Given the description of an element on the screen output the (x, y) to click on. 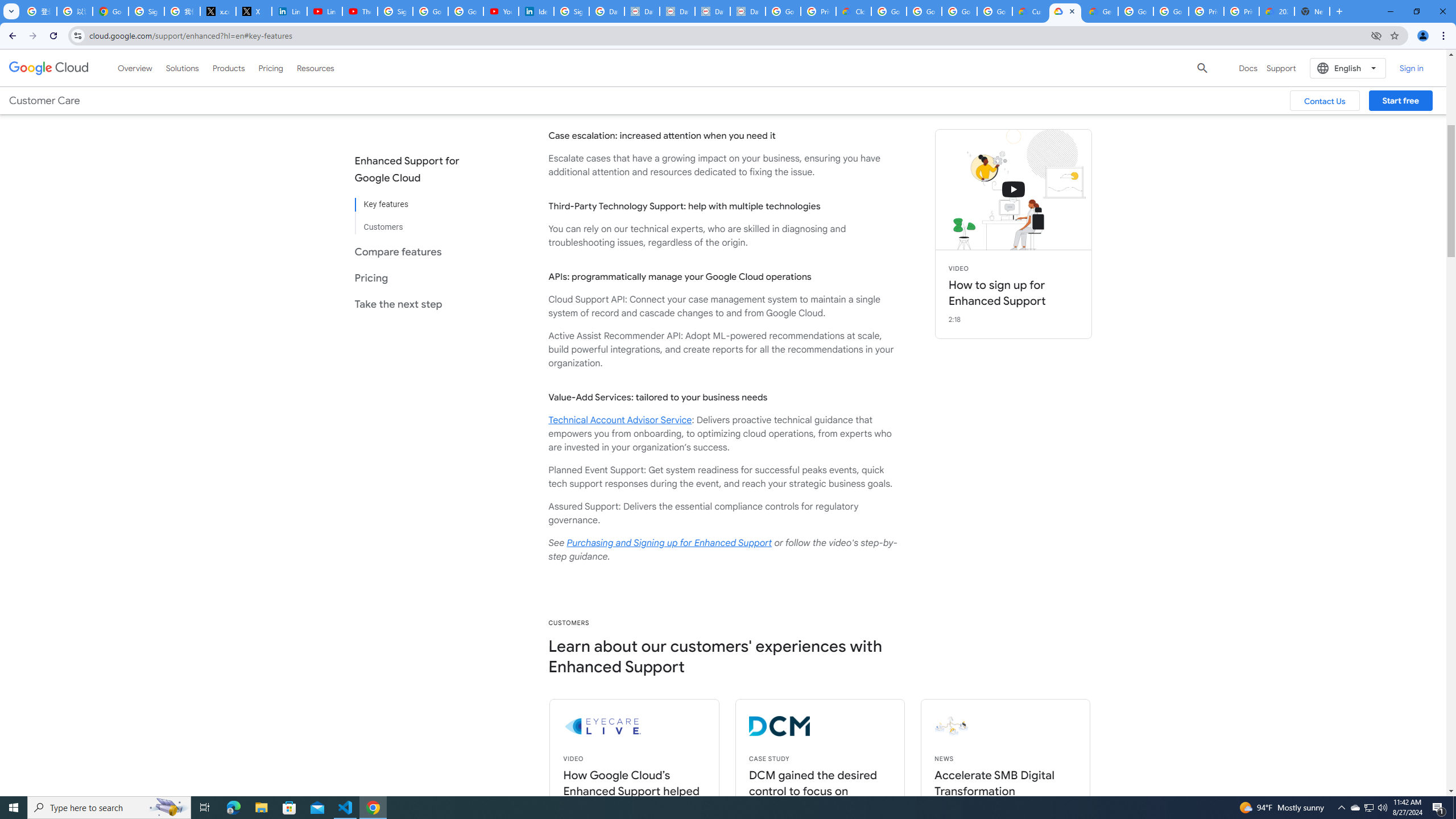
Sign in - Google Accounts (394, 11)
Google Workspace - Specific Terms (959, 11)
Data Privacy Framework (747, 11)
eyecarelive logo (664, 725)
